Given the description of an element on the screen output the (x, y) to click on. 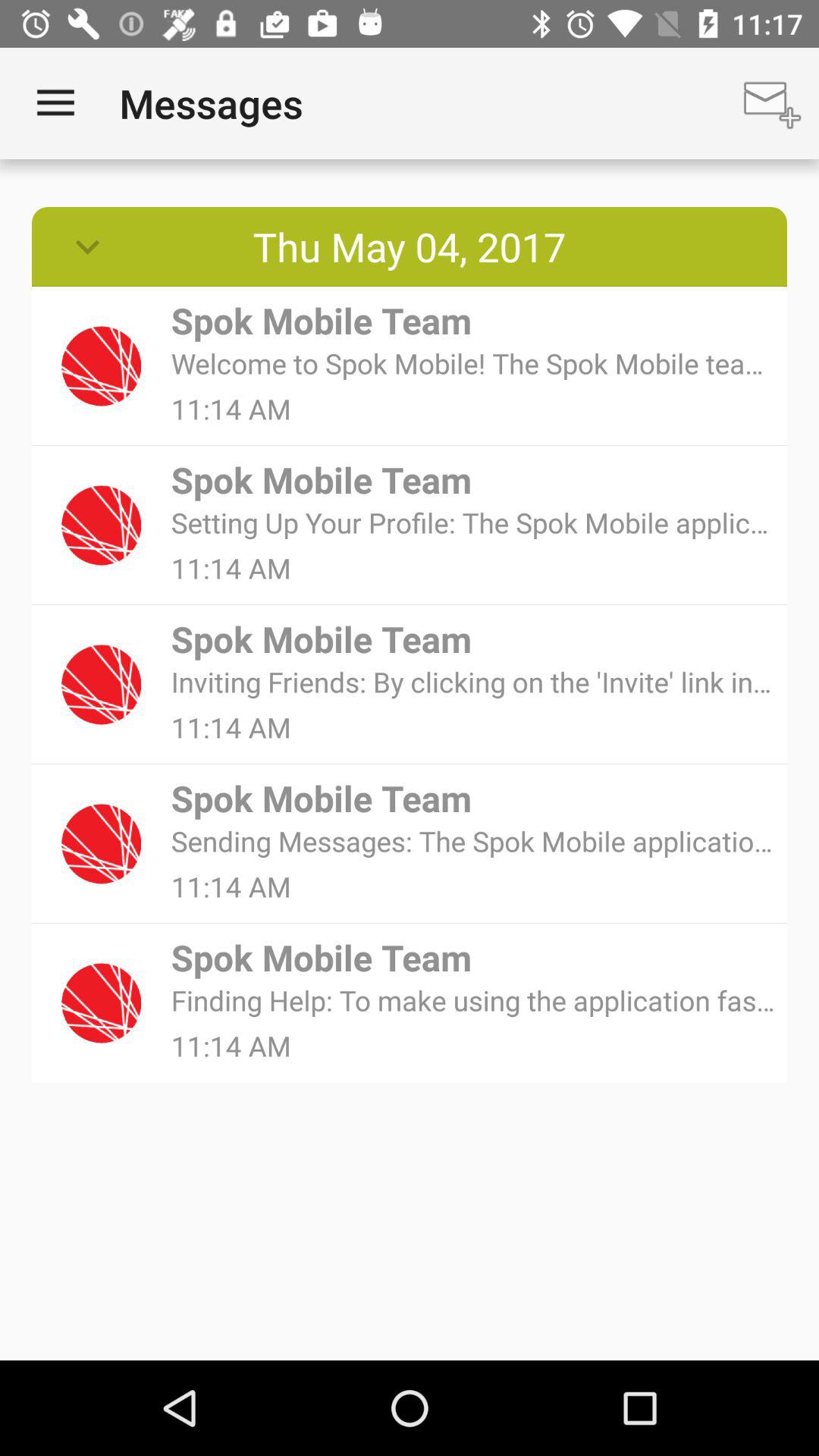
click icon next to messages icon (55, 103)
